Given the description of an element on the screen output the (x, y) to click on. 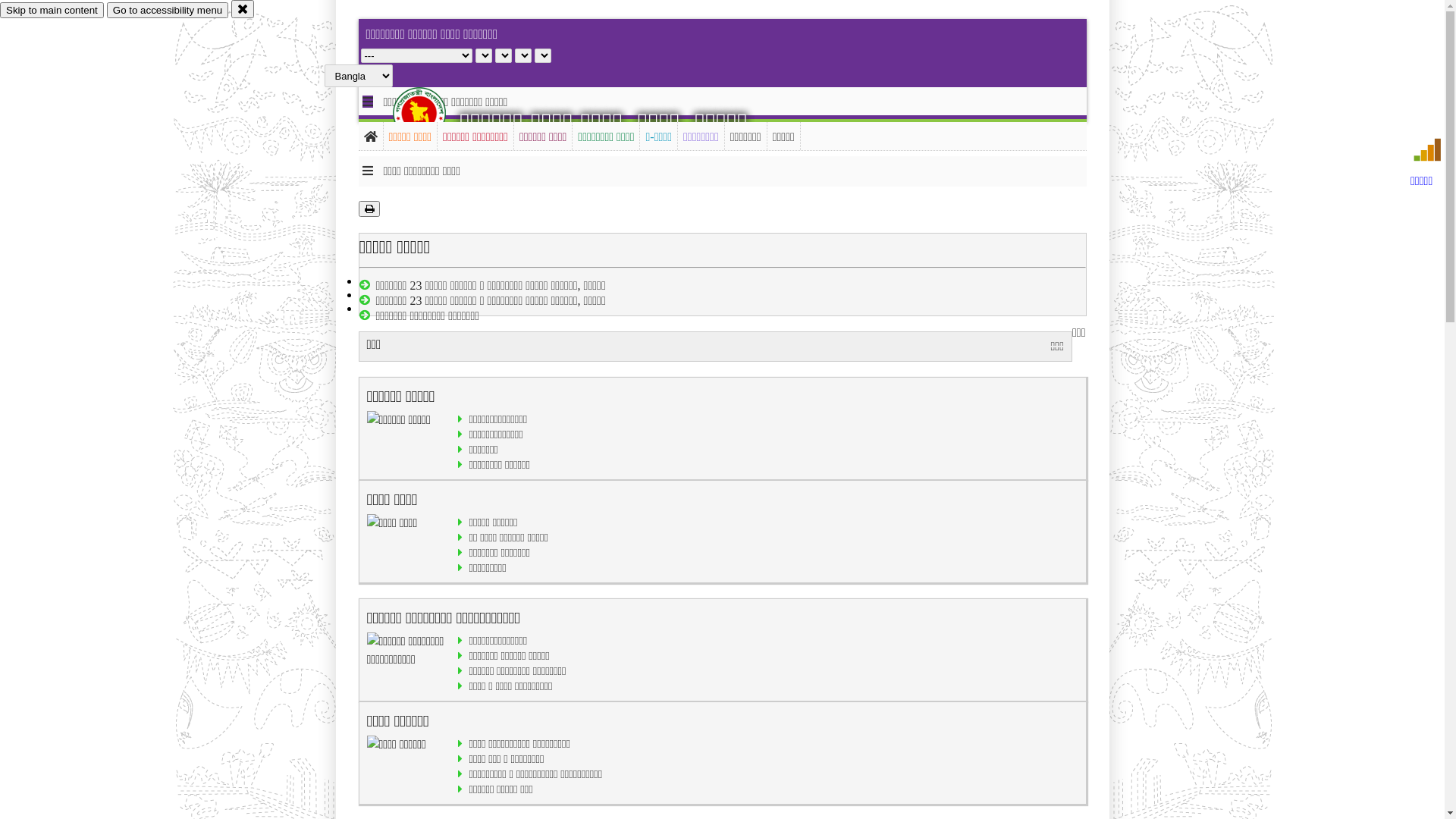
Go to accessibility menu Element type: text (167, 10)
close Element type: hover (242, 9)
Skip to main content Element type: text (51, 10)

                
             Element type: hover (431, 112)
